Given the description of an element on the screen output the (x, y) to click on. 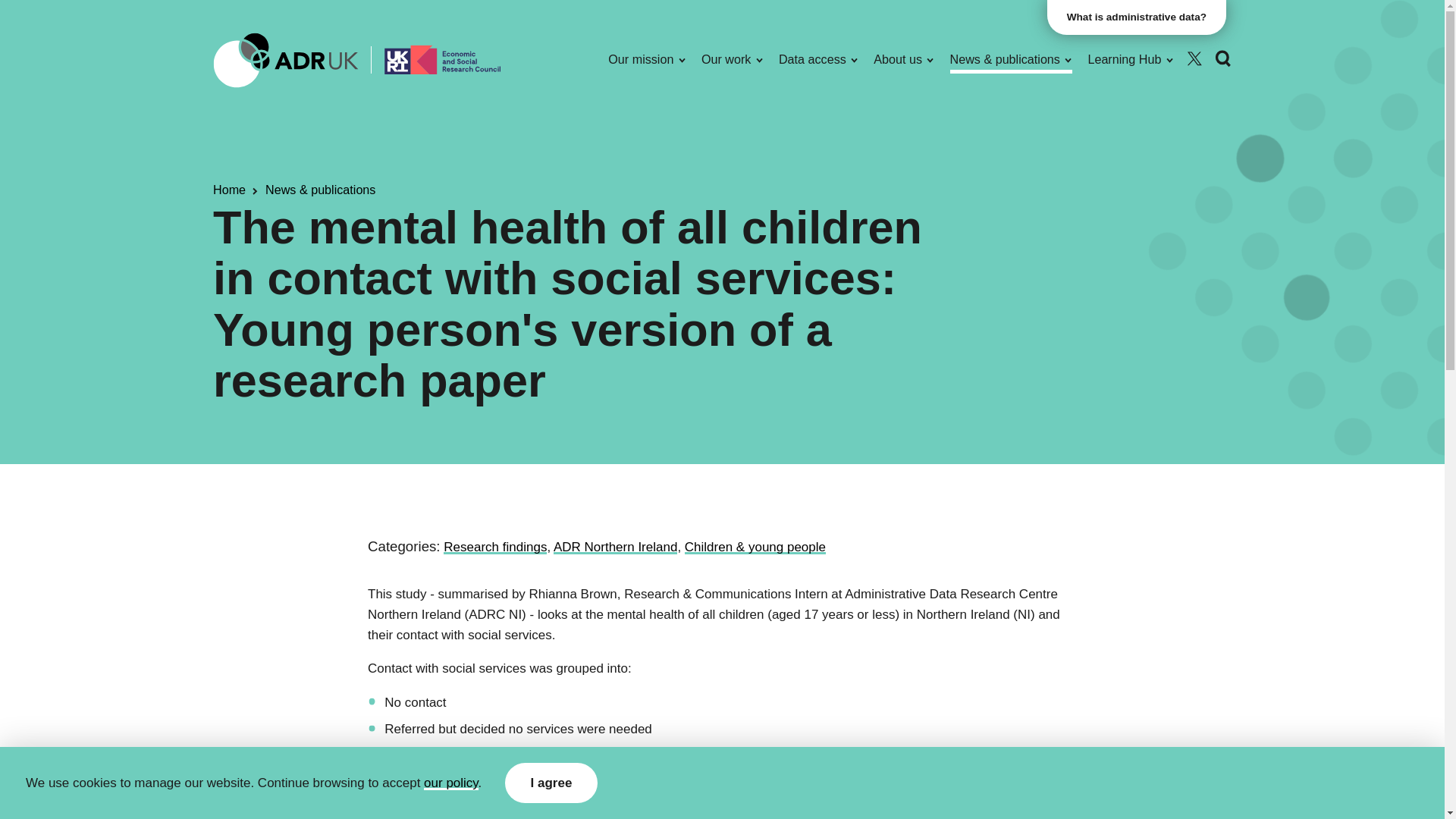
About us (903, 59)
ADR UK - Data driven change (285, 58)
ADR UK on Twitter (1193, 58)
Our mission (646, 59)
Data access (818, 59)
Our mission (646, 59)
Our work (731, 59)
